Given the description of an element on the screen output the (x, y) to click on. 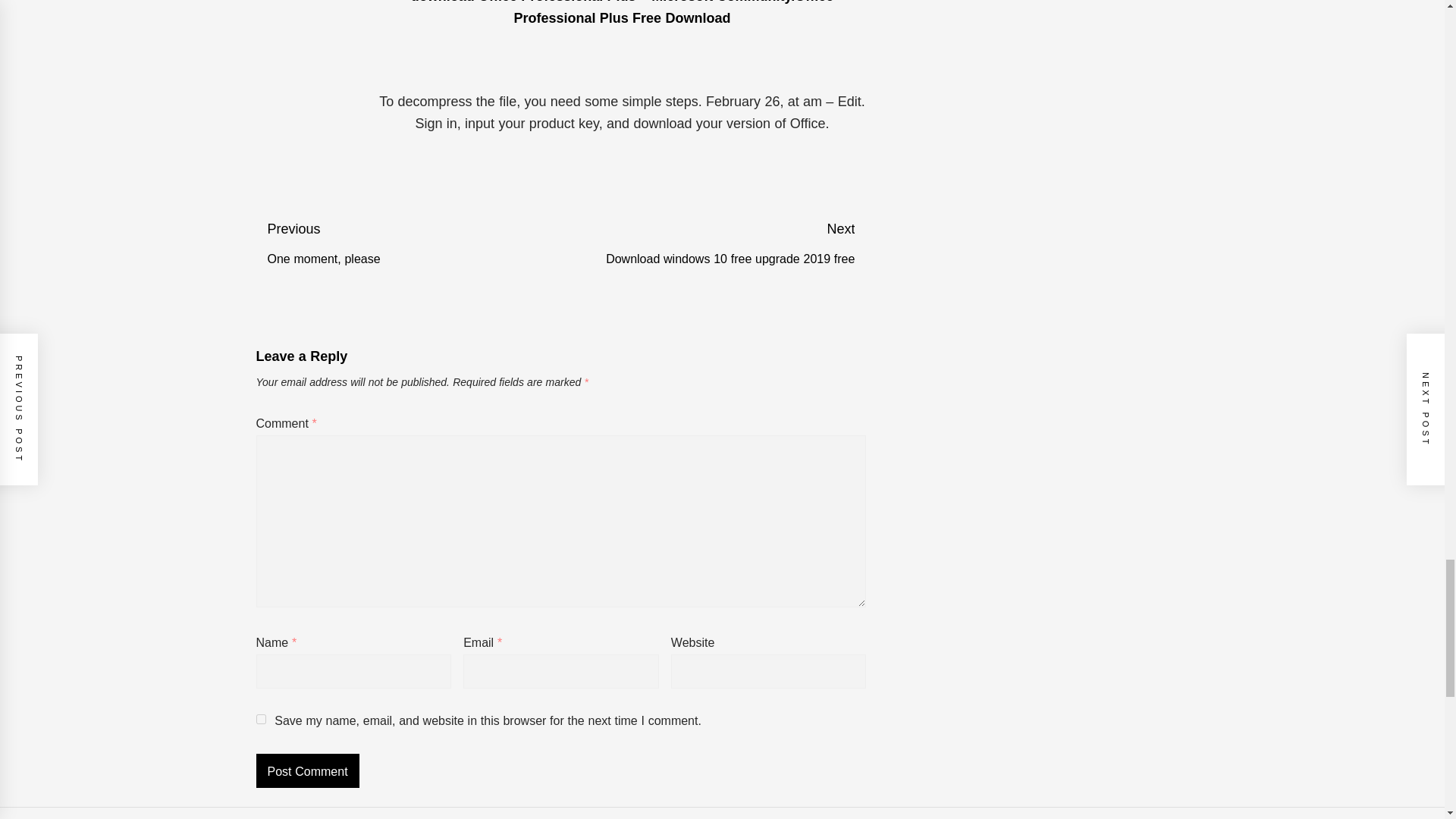
Post Comment (307, 770)
yes (261, 718)
Post Comment (413, 243)
